Given the description of an element on the screen output the (x, y) to click on. 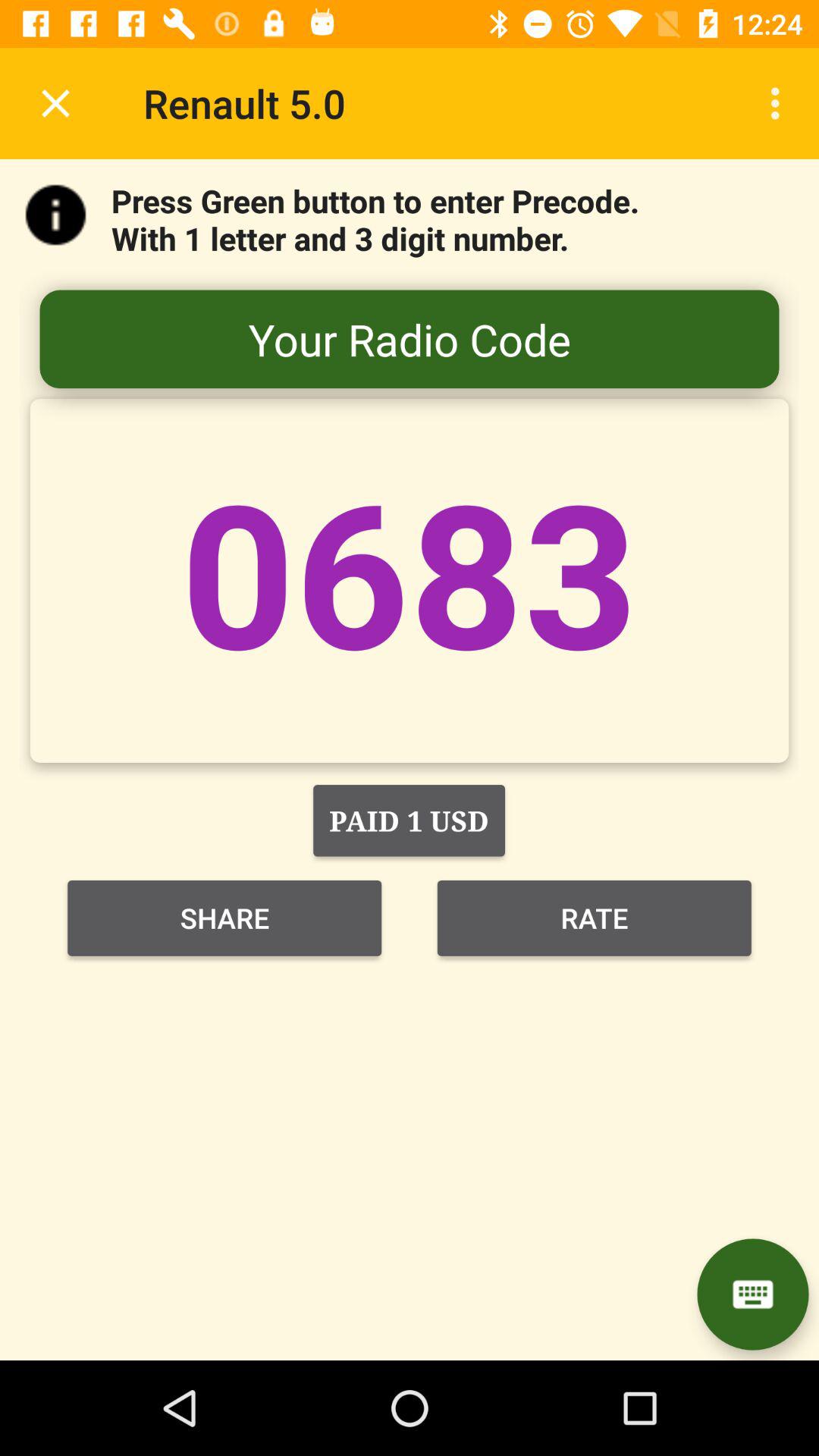
select item below the paid 1 usd item (594, 918)
